Given the description of an element on the screen output the (x, y) to click on. 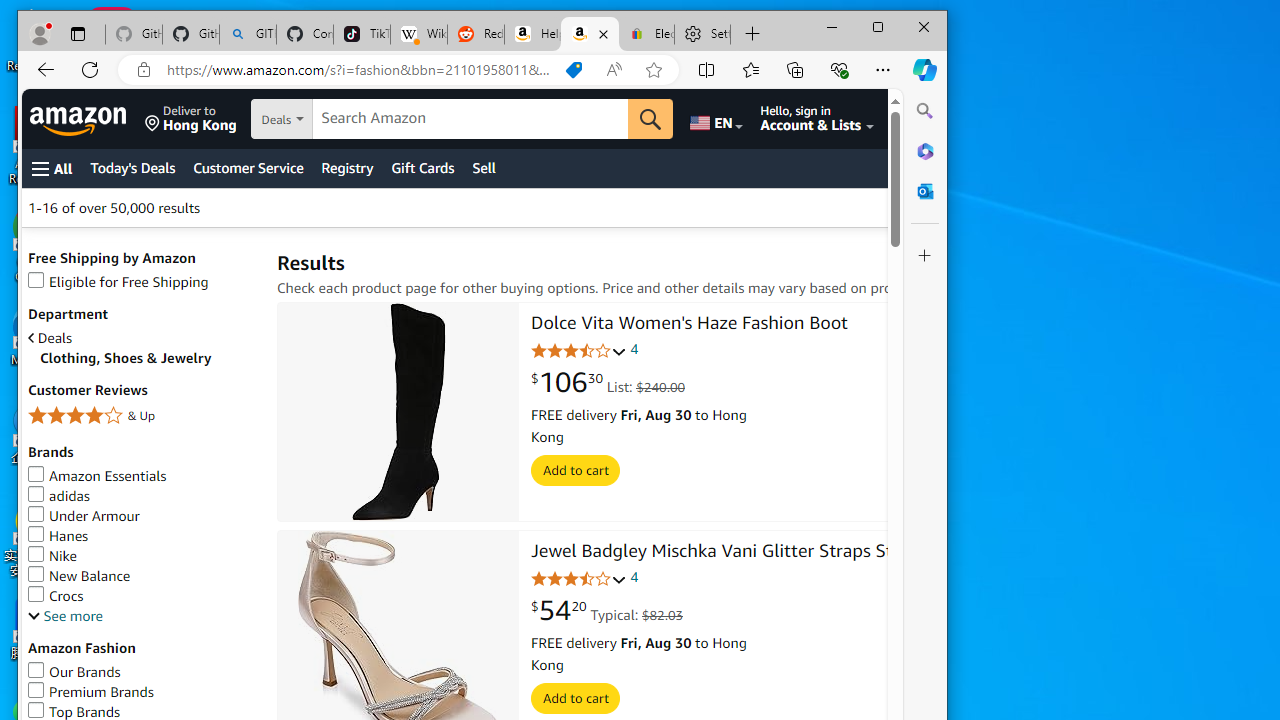
$106.30 List: $240.00 (608, 383)
Gift Cards (422, 168)
Premium Brands (90, 691)
See more, Brands (65, 615)
Sort by: (957, 207)
GITHUB - Search (248, 34)
Jewel Badgley Mischka Vani Glitter Straps Stiletto Heels (758, 552)
TikTok (362, 34)
Amazon Essentials (142, 476)
3.6 out of 5 stars (579, 578)
